Given the description of an element on the screen output the (x, y) to click on. 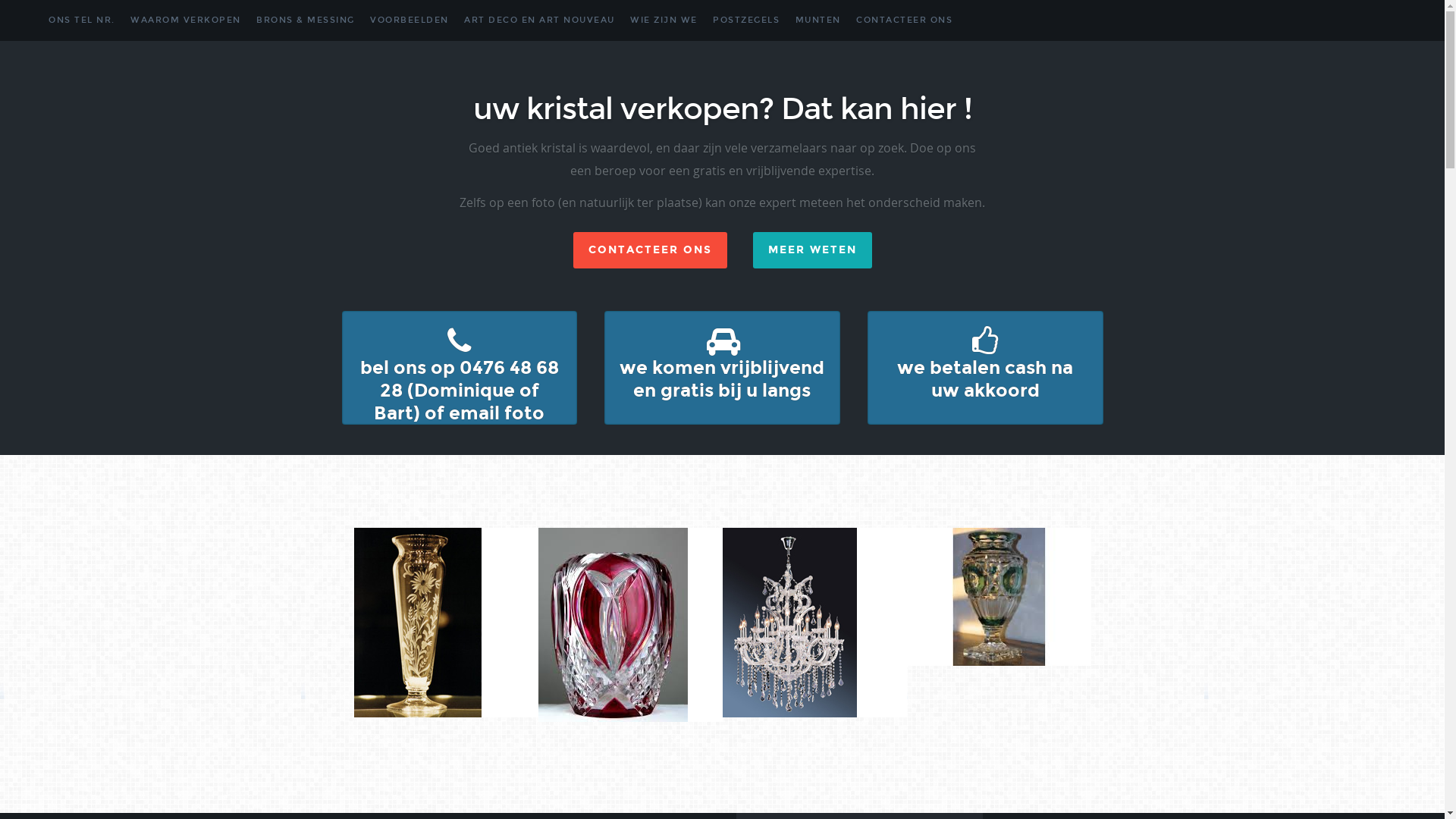
MUNTEN Element type: text (817, 20)
CONTACTEER ONS Element type: text (650, 250)
WIE ZIJN WE Element type: text (663, 20)
CONTACTEER ONS Element type: text (904, 20)
ART DECO EN ART NOUVEAU Element type: text (539, 20)
BRONS & MESSING Element type: text (305, 20)
MEER WETEN Element type: text (811, 250)
WAAROM VERKOPEN Element type: text (185, 20)
ONS TEL NR. Element type: text (81, 20)
POSTZEGELS Element type: text (745, 20)
VOORBEELDEN Element type: text (409, 20)
